Given the description of an element on the screen output the (x, y) to click on. 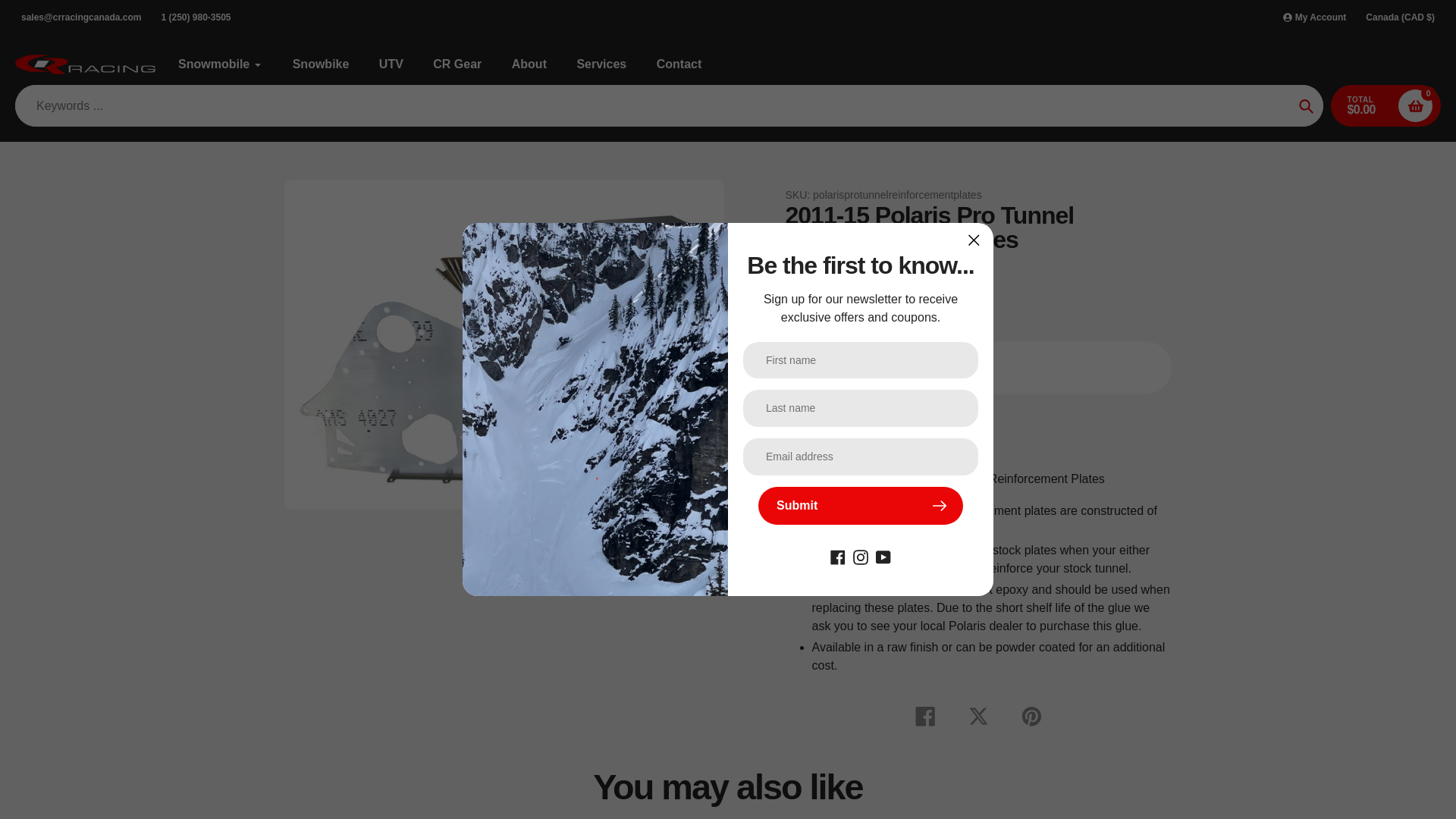
Facebook (837, 555)
YouTube (883, 555)
CR Racing (811, 265)
My Account (1314, 17)
1 (933, 367)
Instagram (860, 555)
